Given the description of an element on the screen output the (x, y) to click on. 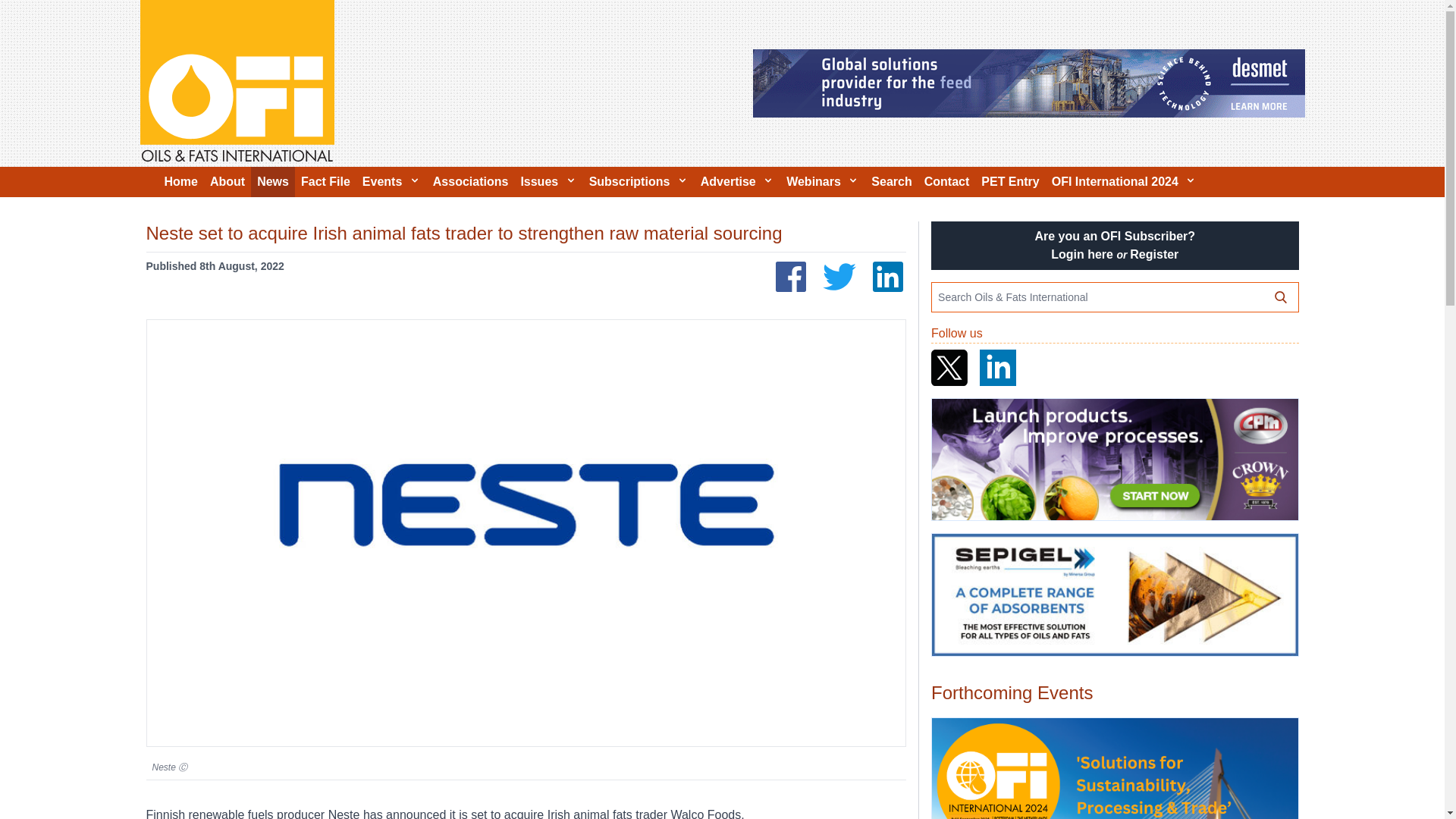
Fact File (325, 182)
Subscriptions (638, 182)
OFI International 2024 (1124, 182)
PET Entry (1010, 182)
Webinars (822, 182)
Advertise (737, 182)
Home (180, 182)
Search (890, 182)
Contact (946, 182)
Issues (547, 182)
News (272, 182)
OFI International 2024 (1114, 768)
Crown JUL 24 - Accelerate it - speciality (1114, 459)
Sepigel 2024 (1114, 594)
Events (391, 182)
